Given the description of an element on the screen output the (x, y) to click on. 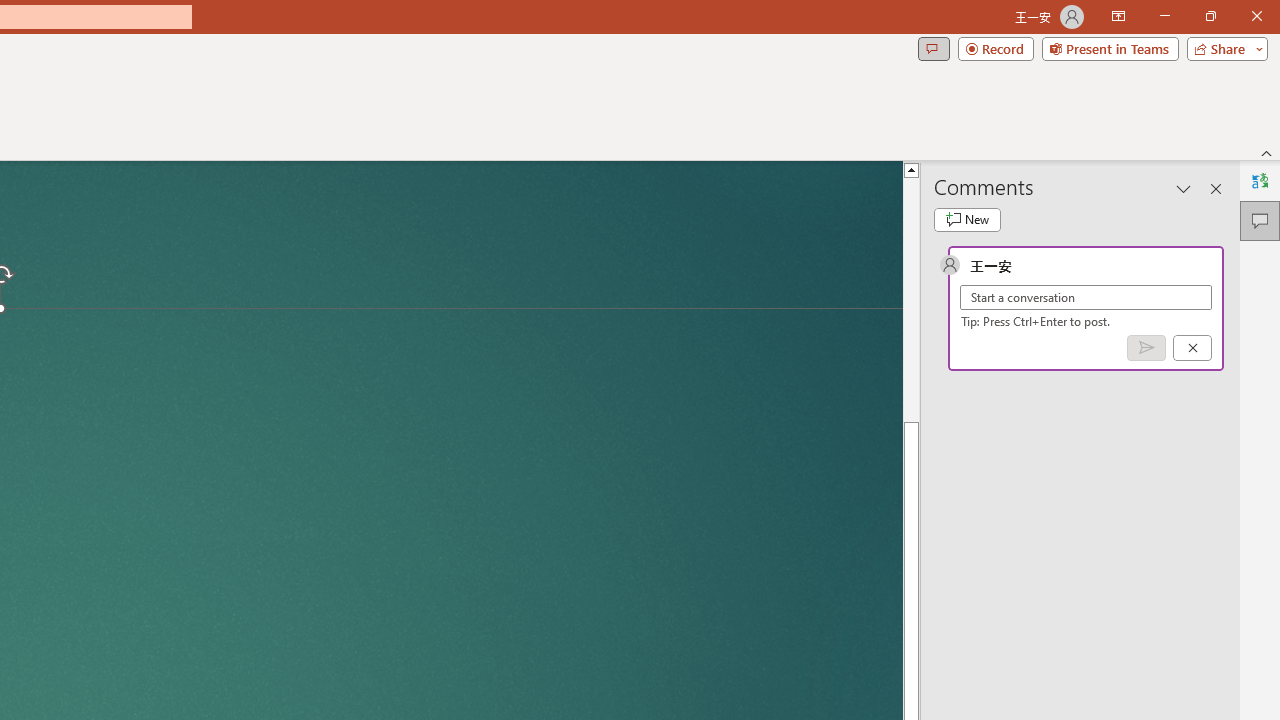
Cancel (1192, 347)
Task Pane Options (1183, 188)
New comment (967, 219)
Page up (911, 299)
